Given the description of an element on the screen output the (x, y) to click on. 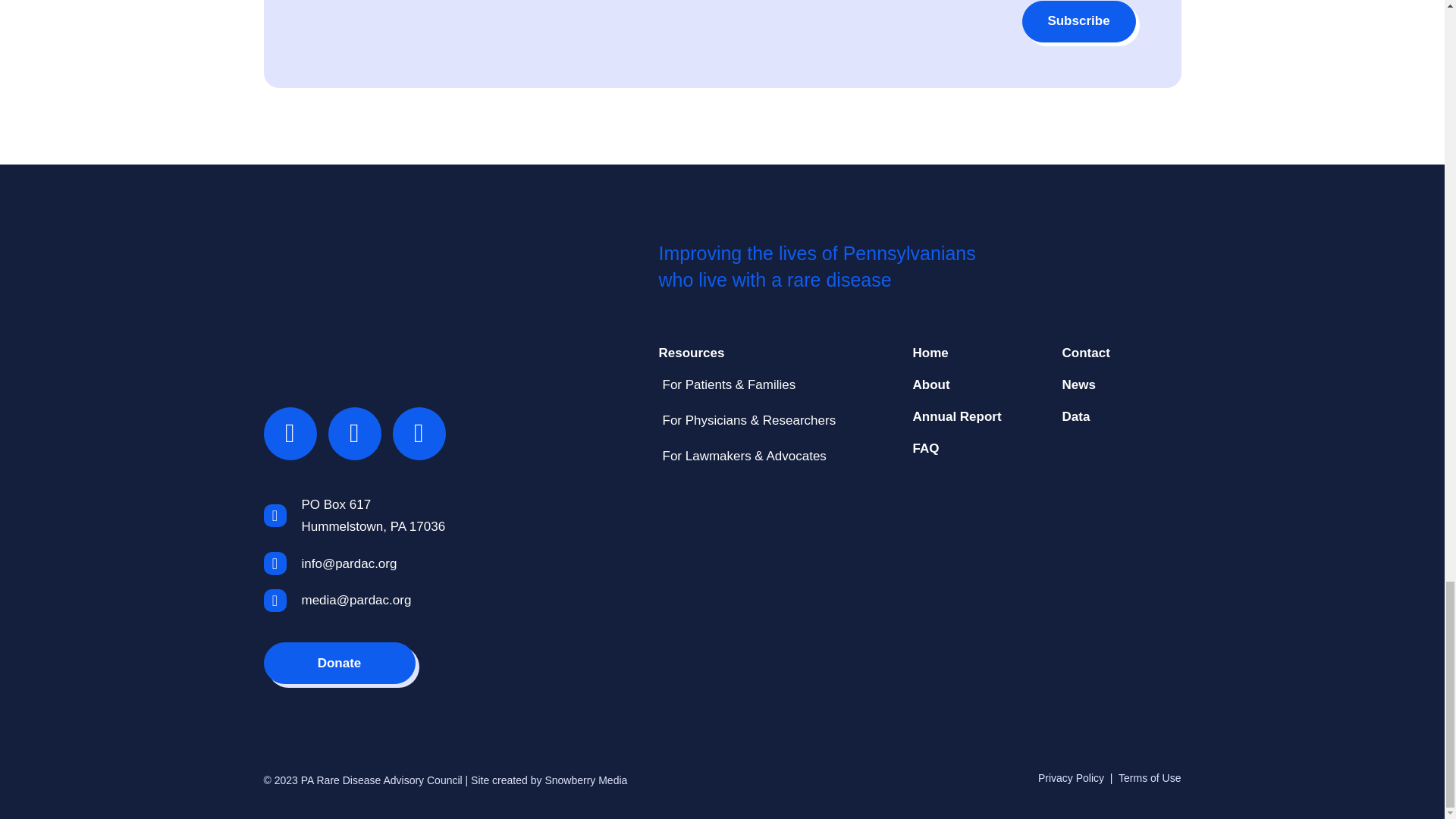
Resources (758, 352)
Subscribe (1078, 21)
PA-rare-disease-logo-white-06 (357, 296)
Donate (338, 662)
